Given the description of an element on the screen output the (x, y) to click on. 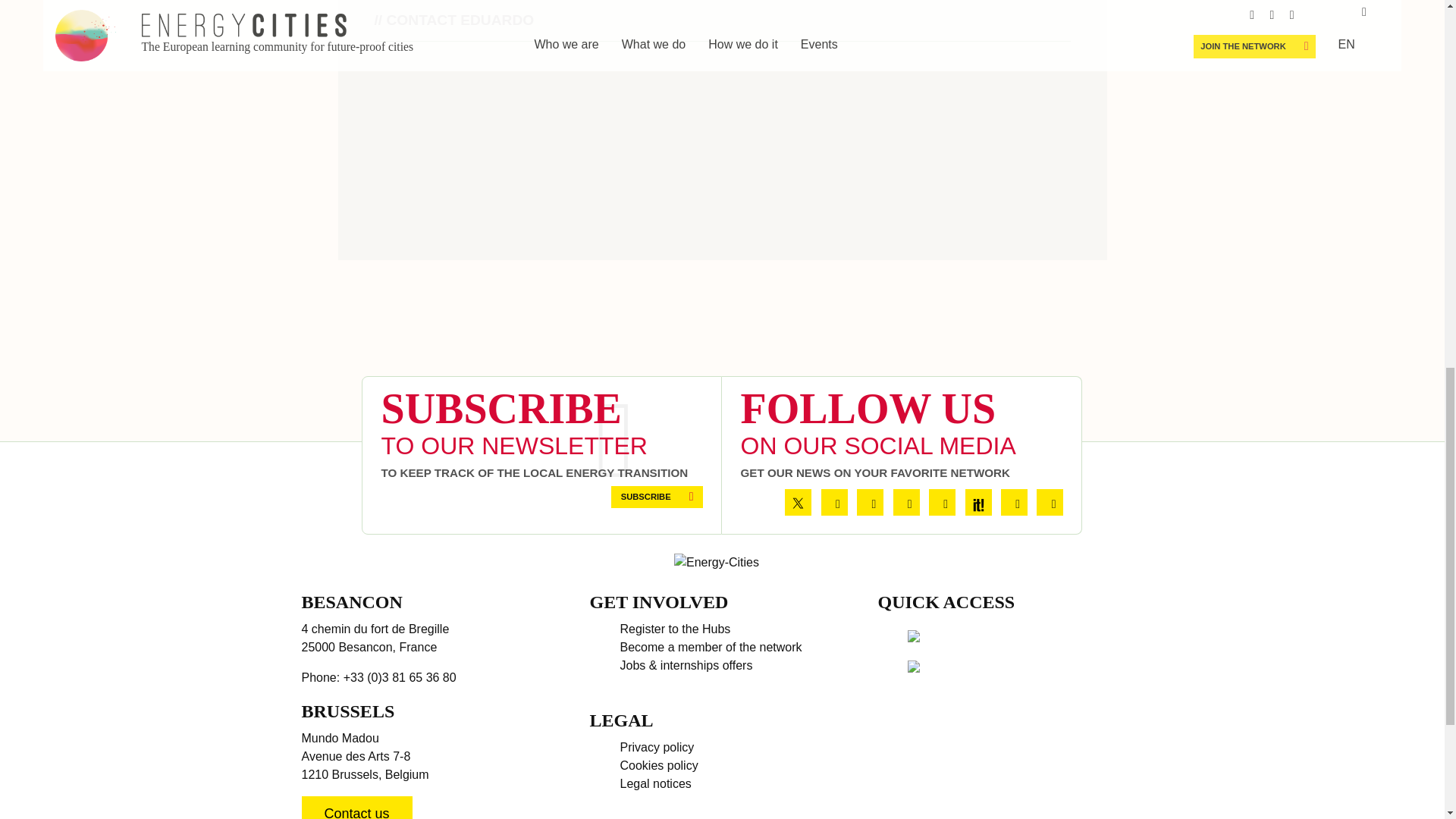
SUBSCRIBE (657, 496)
Register to the Hubs (675, 628)
Become a member of the network (711, 646)
Contact us (356, 807)
